Given the description of an element on the screen output the (x, y) to click on. 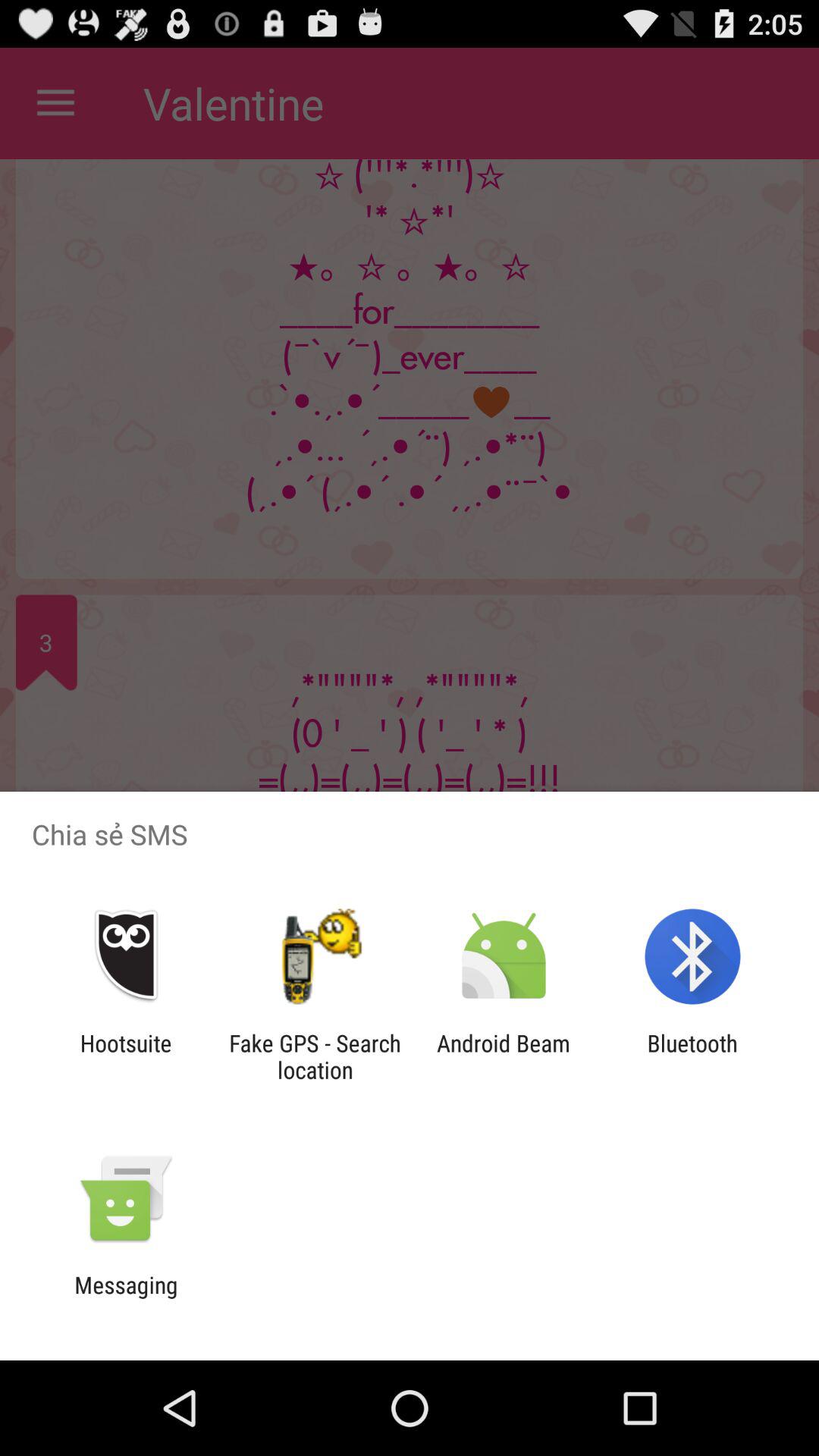
swipe until android beam icon (503, 1056)
